Given the description of an element on the screen output the (x, y) to click on. 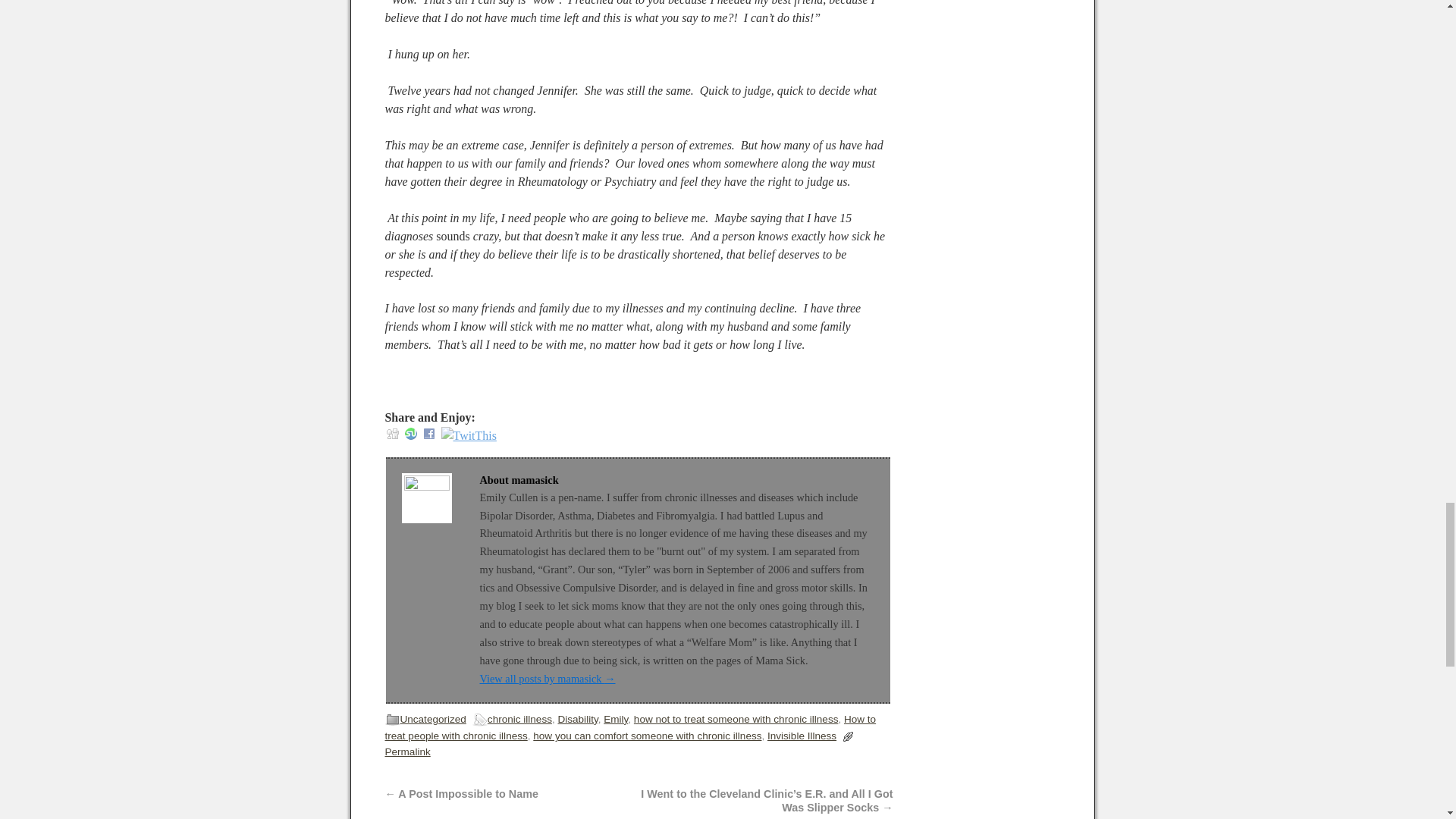
StumbleUpon (410, 435)
Digg (392, 435)
Permalink (407, 751)
Facebook (429, 433)
Invisible Illness (801, 736)
StumbleUpon (410, 433)
how not to treat someone with chronic illness (735, 718)
Permalink to A Post Impossible to Name, Part 2 (407, 751)
chronic illness (519, 718)
how you can comfort someone with chronic illness (646, 736)
